Given the description of an element on the screen output the (x, y) to click on. 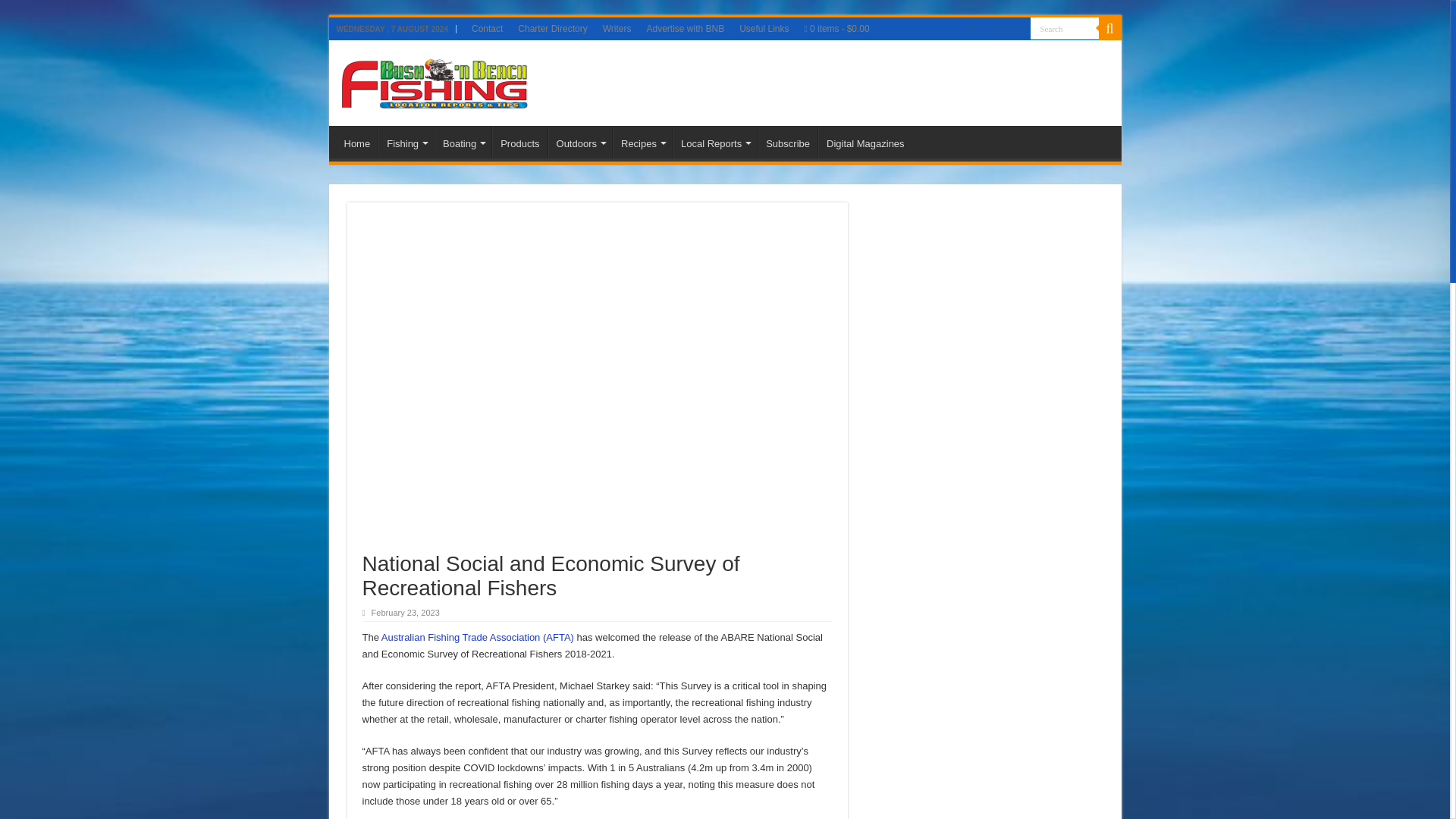
Advertise with BNB (685, 28)
Search (1063, 28)
Start shopping (836, 28)
Search (1109, 28)
Fishing (405, 142)
Writers (617, 28)
Search (1063, 28)
Search (1063, 28)
Home (357, 142)
Contact (487, 28)
